Given the description of an element on the screen output the (x, y) to click on. 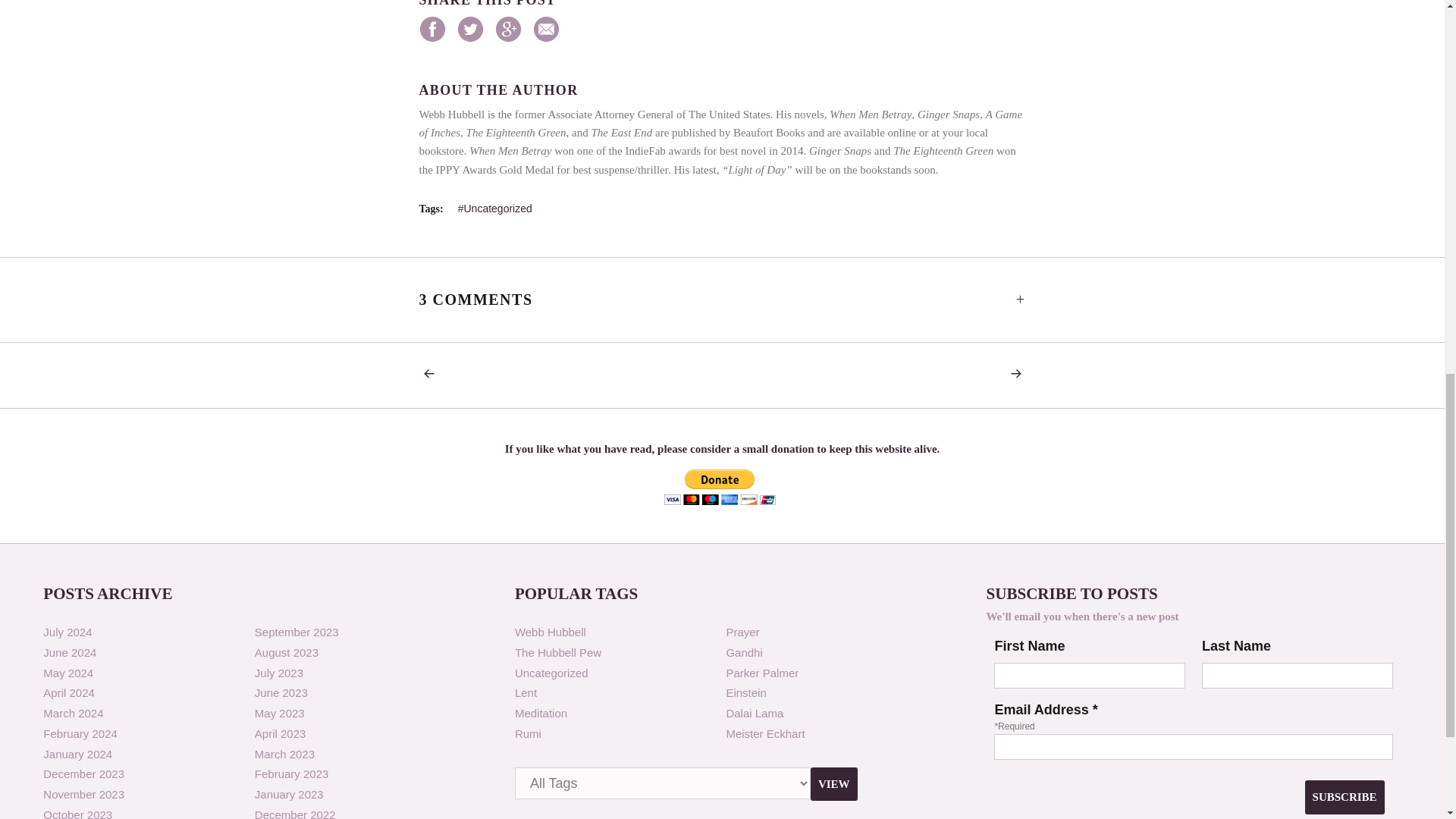
Uncategorized Tag (551, 672)
Uncategorized (495, 208)
Lent Tag (526, 692)
December 2023 (83, 773)
Prayer Tag (741, 631)
January 2024 (77, 753)
November 2023 (83, 793)
October 2023 (77, 813)
August 2023 (286, 652)
July 2024 (67, 631)
June 2024 (69, 652)
July 2023 (278, 672)
April 2024 (68, 692)
April 2023 (279, 733)
September 2023 (296, 631)
